Given the description of an element on the screen output the (x, y) to click on. 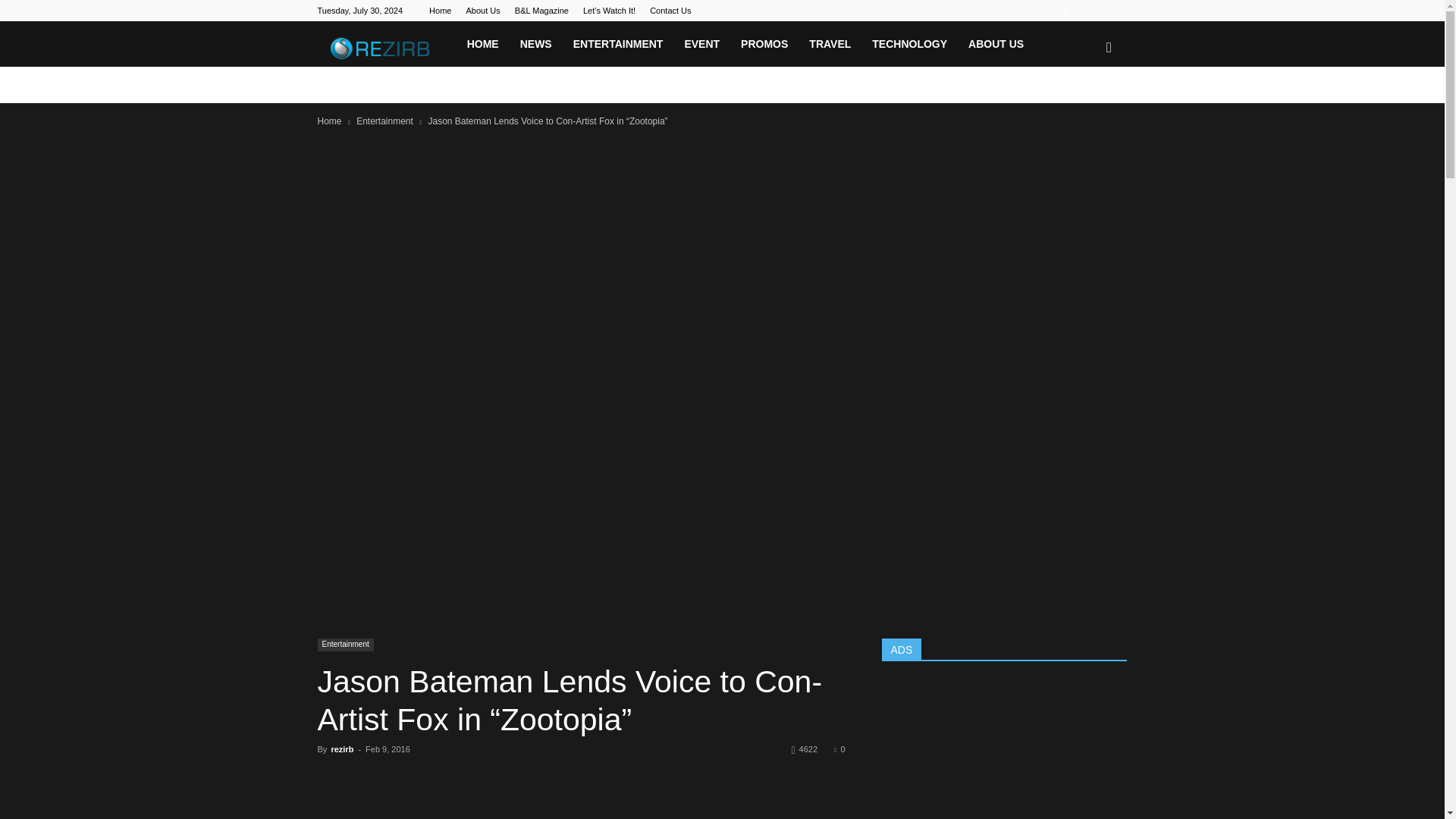
Instagram (1065, 10)
Home (328, 121)
Contact Us (669, 10)
ReZirb (386, 47)
ENTERTAINMENT (618, 43)
Twitter (1090, 10)
Facebook (1040, 10)
Entertainment (344, 644)
TECHNOLOGY (909, 43)
Home (440, 10)
About Us (482, 10)
HOME (483, 43)
View all posts in Entertainment (384, 121)
Youtube (1114, 10)
NEWS (535, 43)
